Given the description of an element on the screen output the (x, y) to click on. 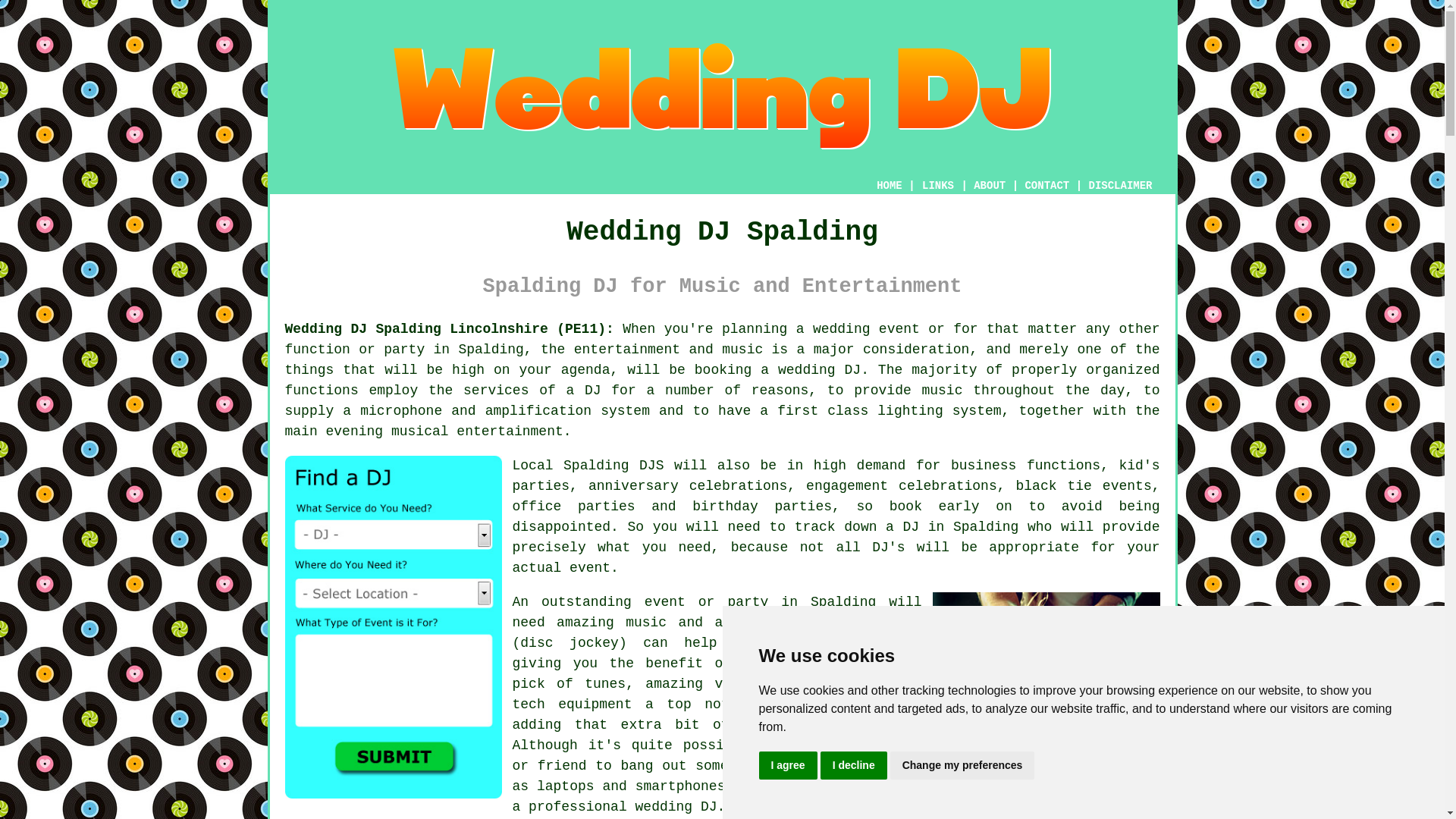
Change my preferences (962, 765)
wedding DJ (801, 703)
music (646, 622)
DJ's (888, 547)
DJ (593, 390)
wedding DJ (675, 806)
a DJ (901, 526)
HOME (889, 185)
a wedding DJ (810, 369)
I decline (853, 765)
